Given the description of an element on the screen output the (x, y) to click on. 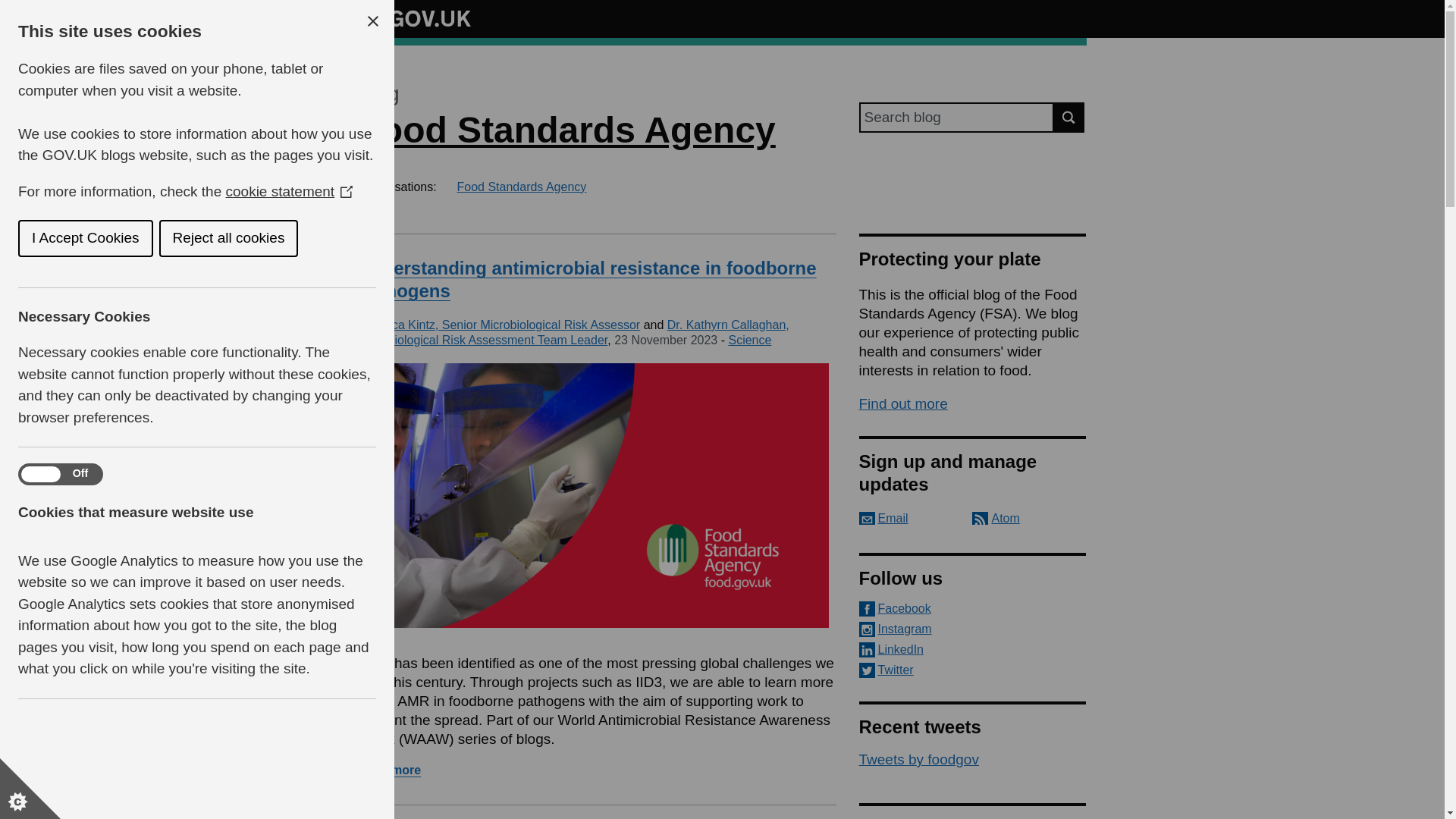
Instagram (972, 629)
Find out more (903, 403)
GOV.UK (414, 15)
Skip to main content (11, 7)
Science (749, 339)
Search (1069, 117)
GOV.UK (414, 18)
Search (1069, 117)
Go to the GOV.UK homepage (414, 18)
